Given the description of an element on the screen output the (x, y) to click on. 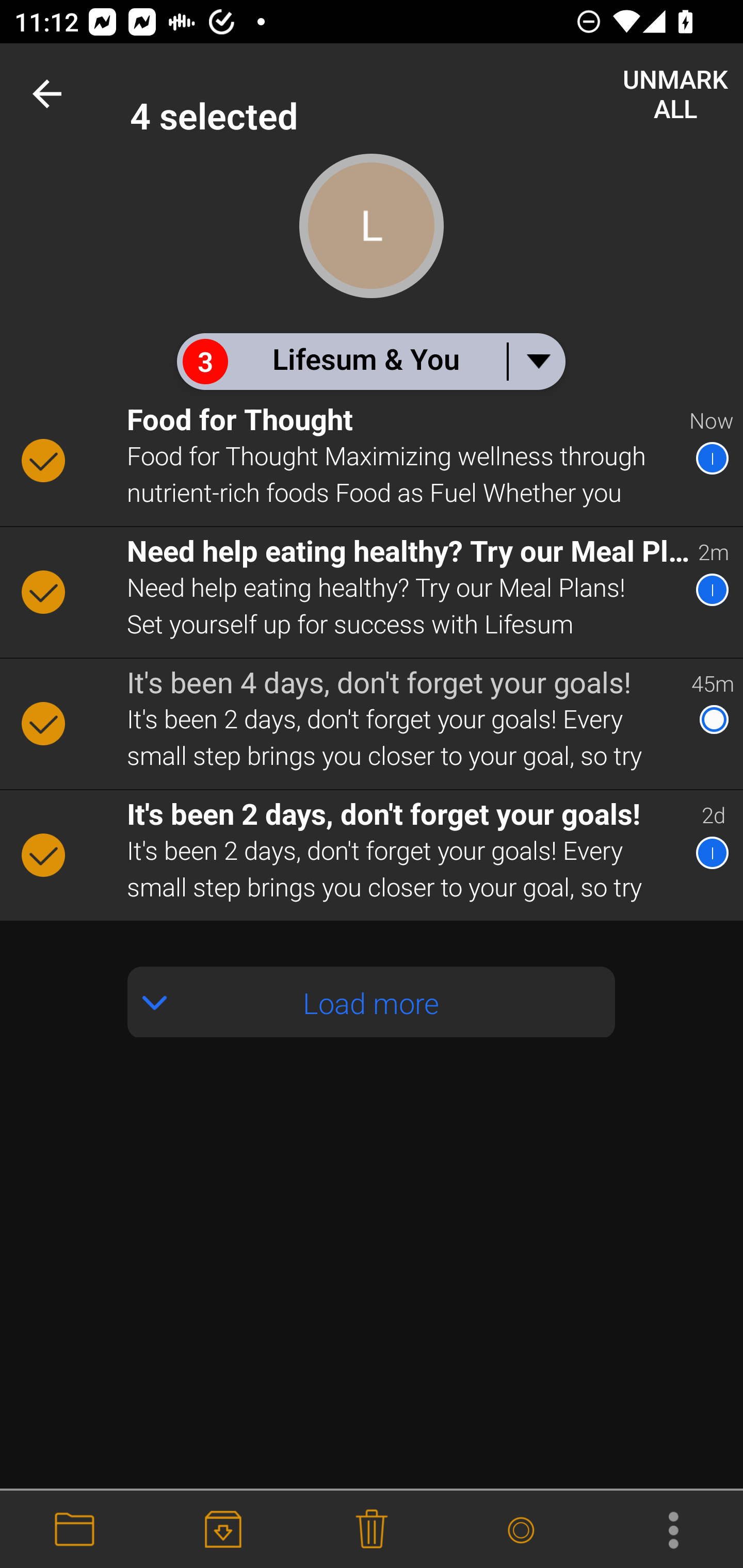
Navigate up (50, 93)
Lifesum lifesum@communication.lifesum.com (436, 93)
UNMARK
ALL (675, 93)
3 Lifesum & You (370, 361)
Load more (371, 1001)
Move (74, 1529)
Archive (222, 1529)
Delete (371, 1529)
Mark as Read (520, 1529)
More Options (668, 1529)
